Given the description of an element on the screen output the (x, y) to click on. 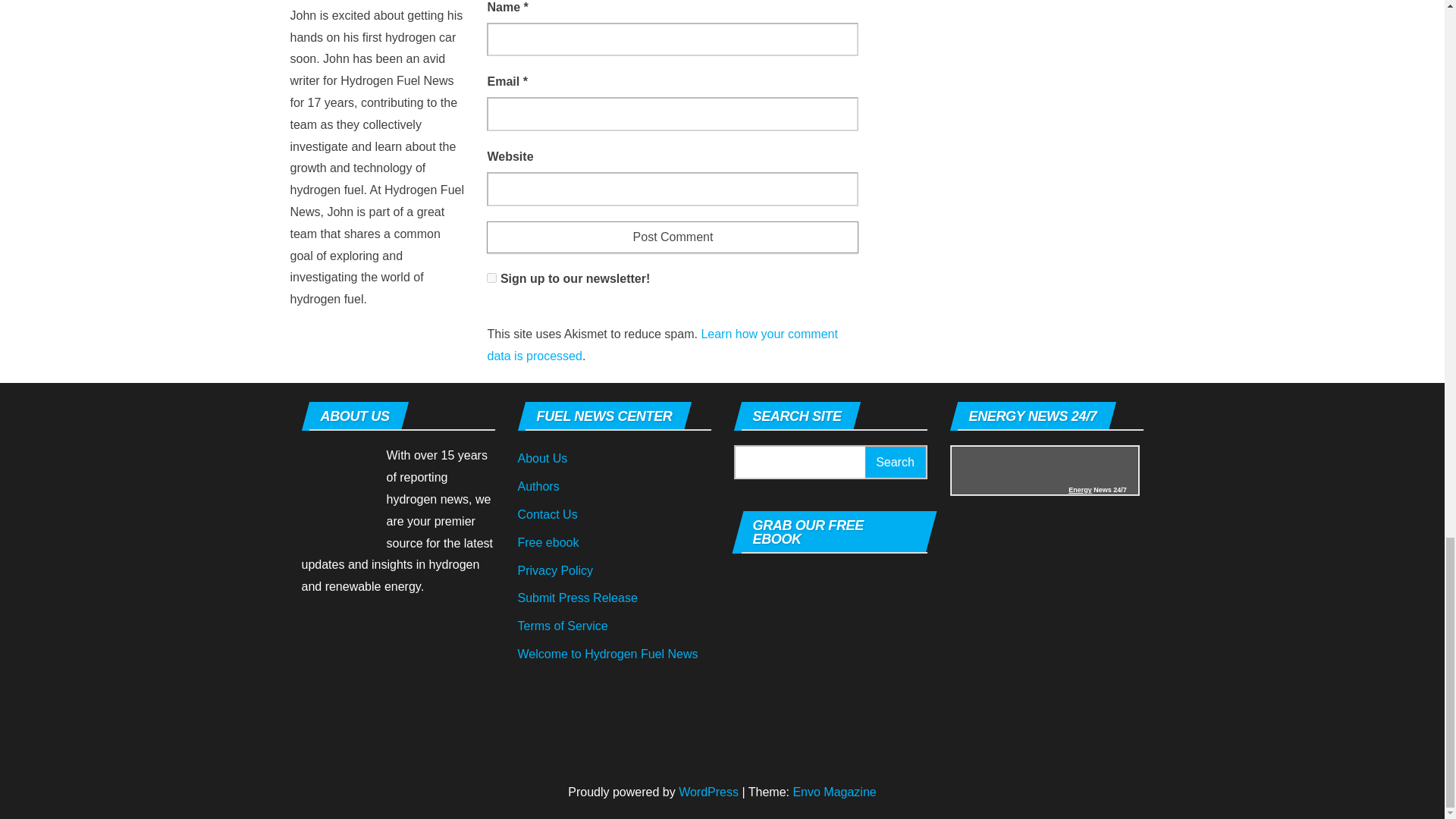
1 (491, 277)
Search (894, 461)
Post Comment (672, 237)
